Given the description of an element on the screen output the (x, y) to click on. 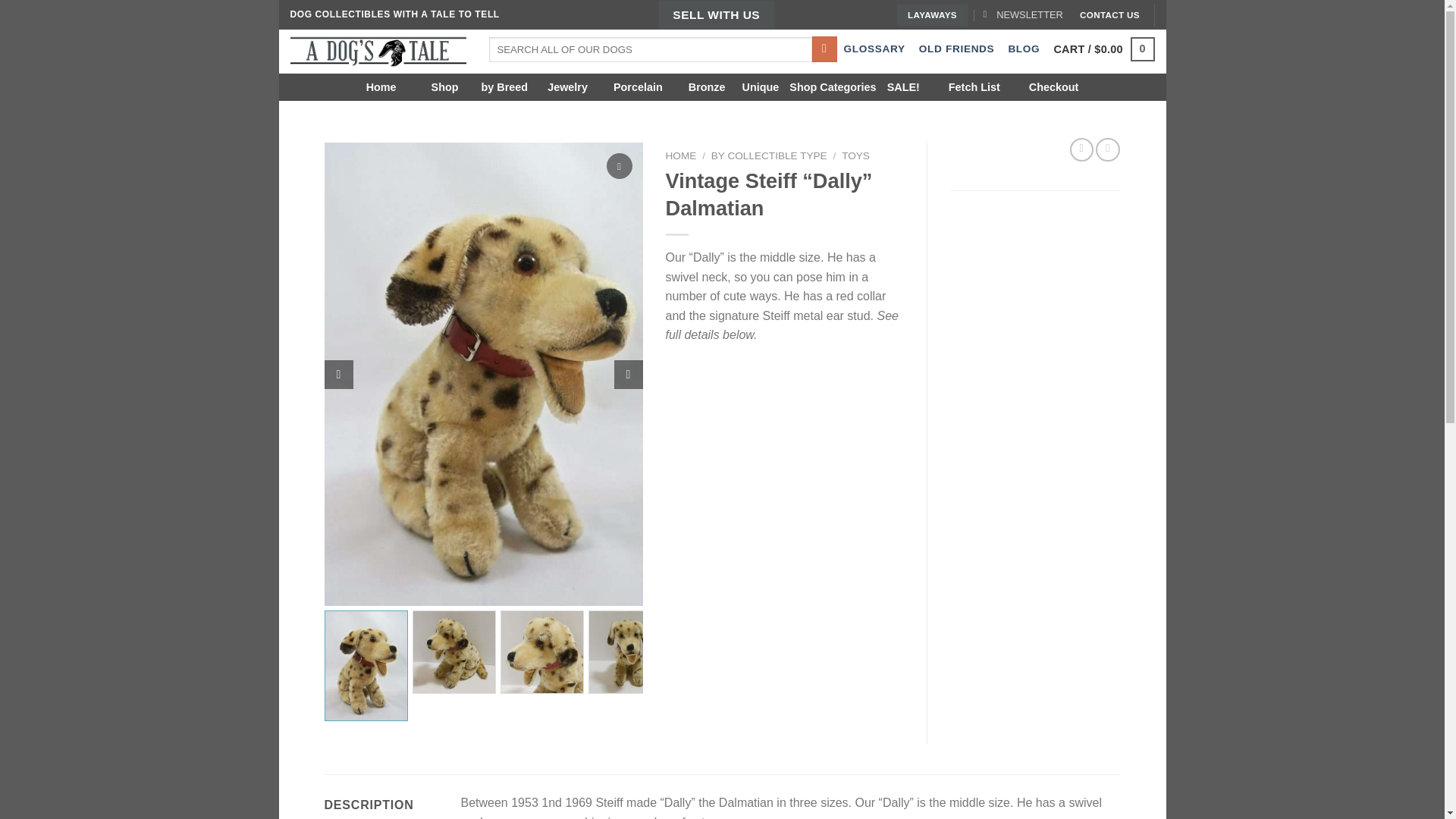
Search (824, 49)
A Dogs Tale Collectibles - A Dogs Tale (377, 51)
   Bronze   (705, 86)
   Jewelry   (566, 86)
SELL WITH US (716, 14)
by Breed (504, 86)
Unique (760, 86)
   Porcelain   (636, 86)
Shop Categories (832, 86)
    Shop     (444, 86)
Home     (387, 86)
